Given the description of an element on the screen output the (x, y) to click on. 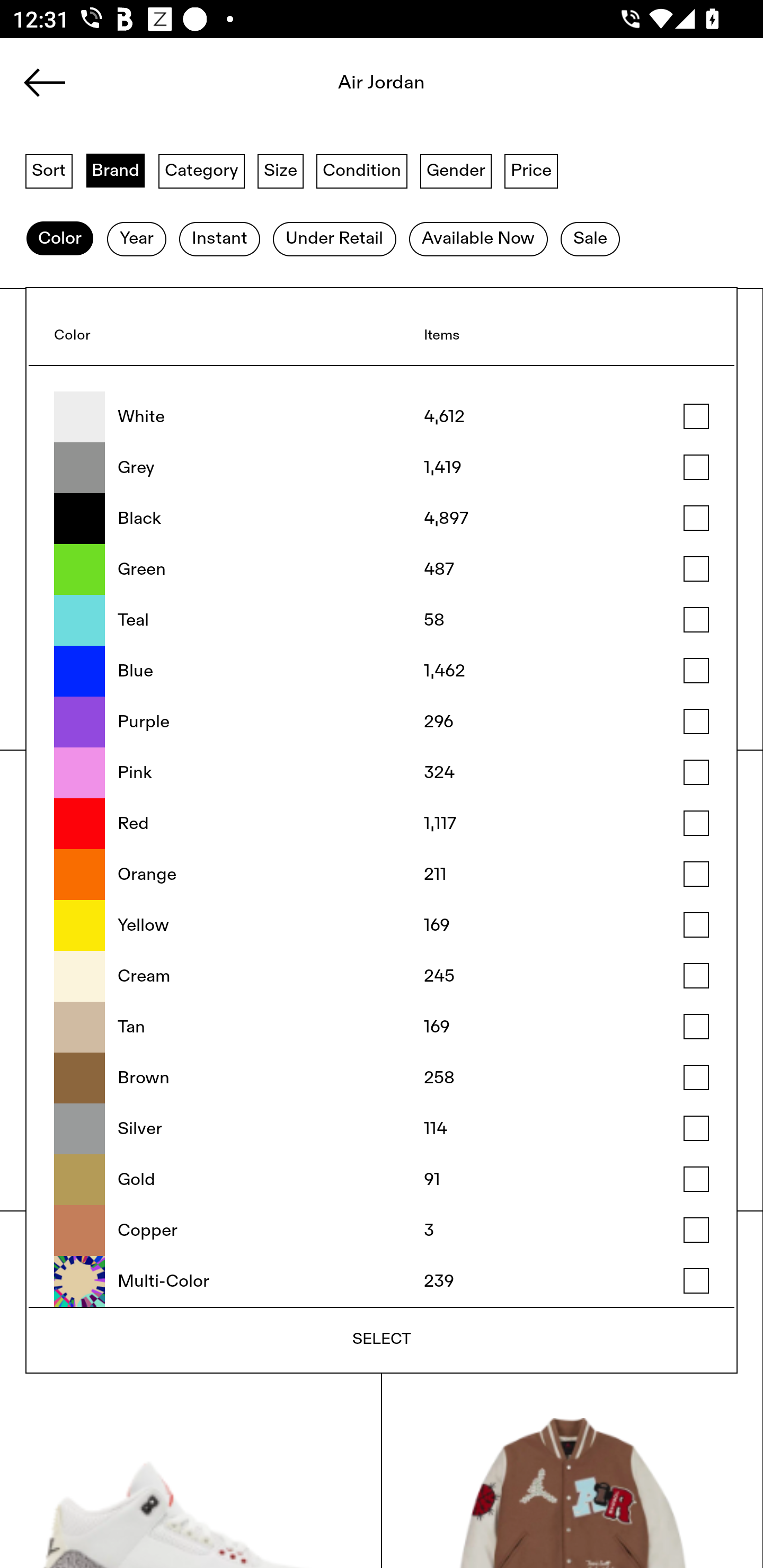
Sort (48, 170)
Brand (115, 170)
Category (201, 170)
Size (280, 170)
Condition (361, 170)
Gender (455, 170)
Price (530, 170)
Color (59, 239)
Year (136, 239)
Instant (219, 239)
Under Retail (334, 239)
Available Now (477, 239)
Sale (589, 239)
White 4,612 (381, 417)
Grey 1,419 (381, 467)
Black 4,897 (381, 518)
Green 487 (381, 569)
Teal 58 (381, 620)
Blue 1,462 (381, 671)
Purple 296 (381, 721)
Red 1,117 (381, 823)
Orange 211 (381, 874)
Yellow 169 (381, 925)
Cream 245 (381, 975)
Tan 169 (381, 1026)
Brown 258 (381, 1077)
Silver 114 (381, 1128)
Gold 91 (381, 1179)
Copper 3 (381, 1230)
Multi-Color 239 (381, 1280)
SELECT (381, 1338)
